Given the description of an element on the screen output the (x, y) to click on. 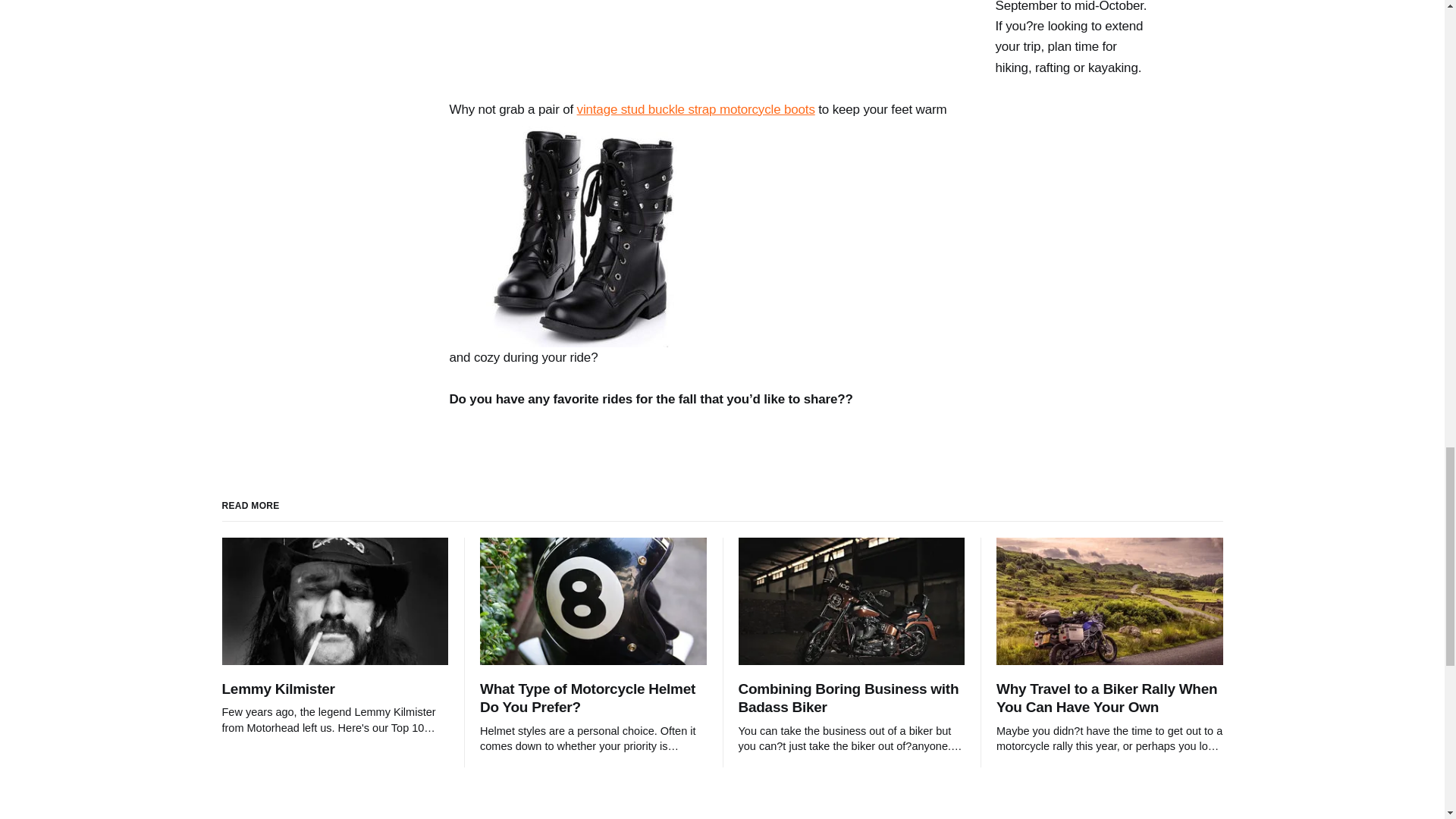
vintage stud buckle strap motorcycle boots (695, 109)
